Given the description of an element on the screen output the (x, y) to click on. 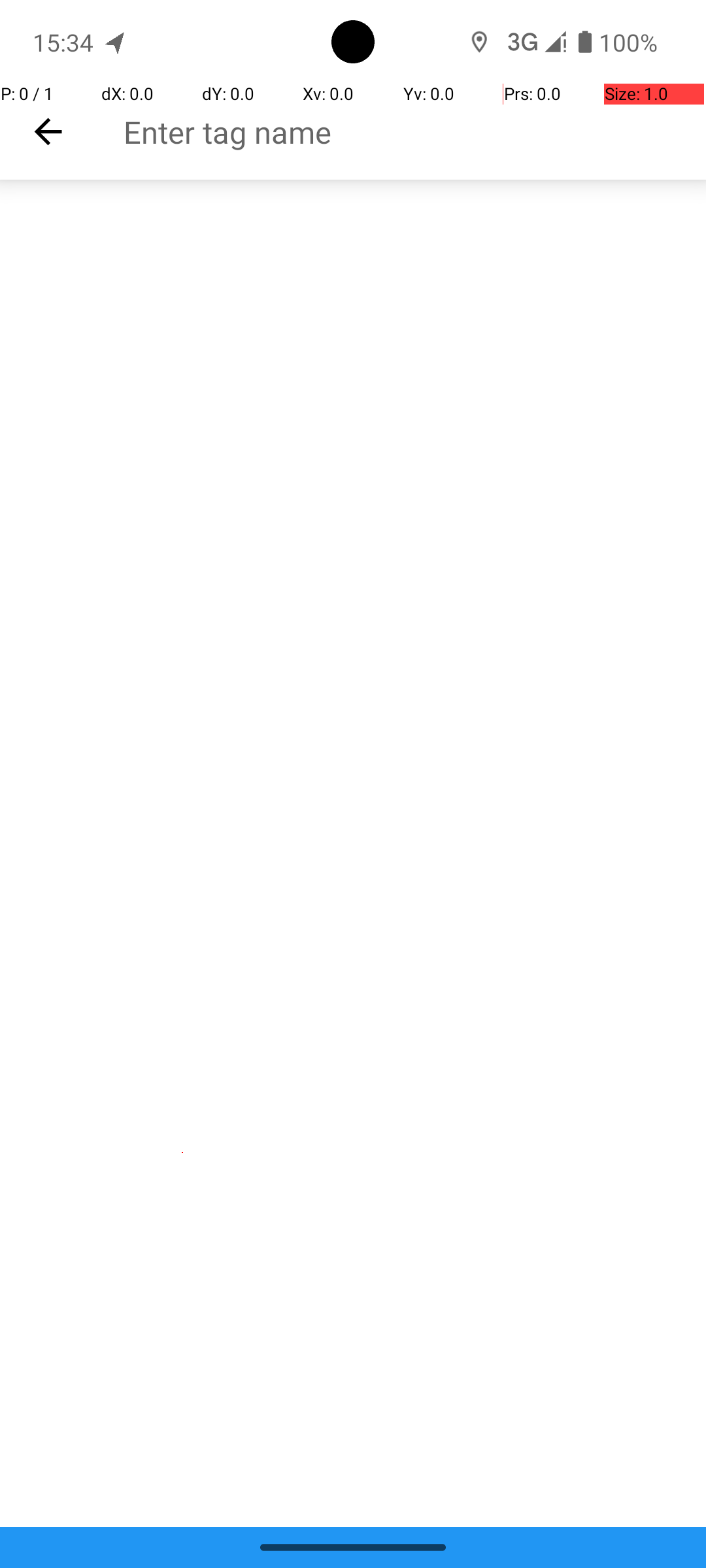
Enter tag name Element type: android.widget.EditText (414, 131)
